Given the description of an element on the screen output the (x, y) to click on. 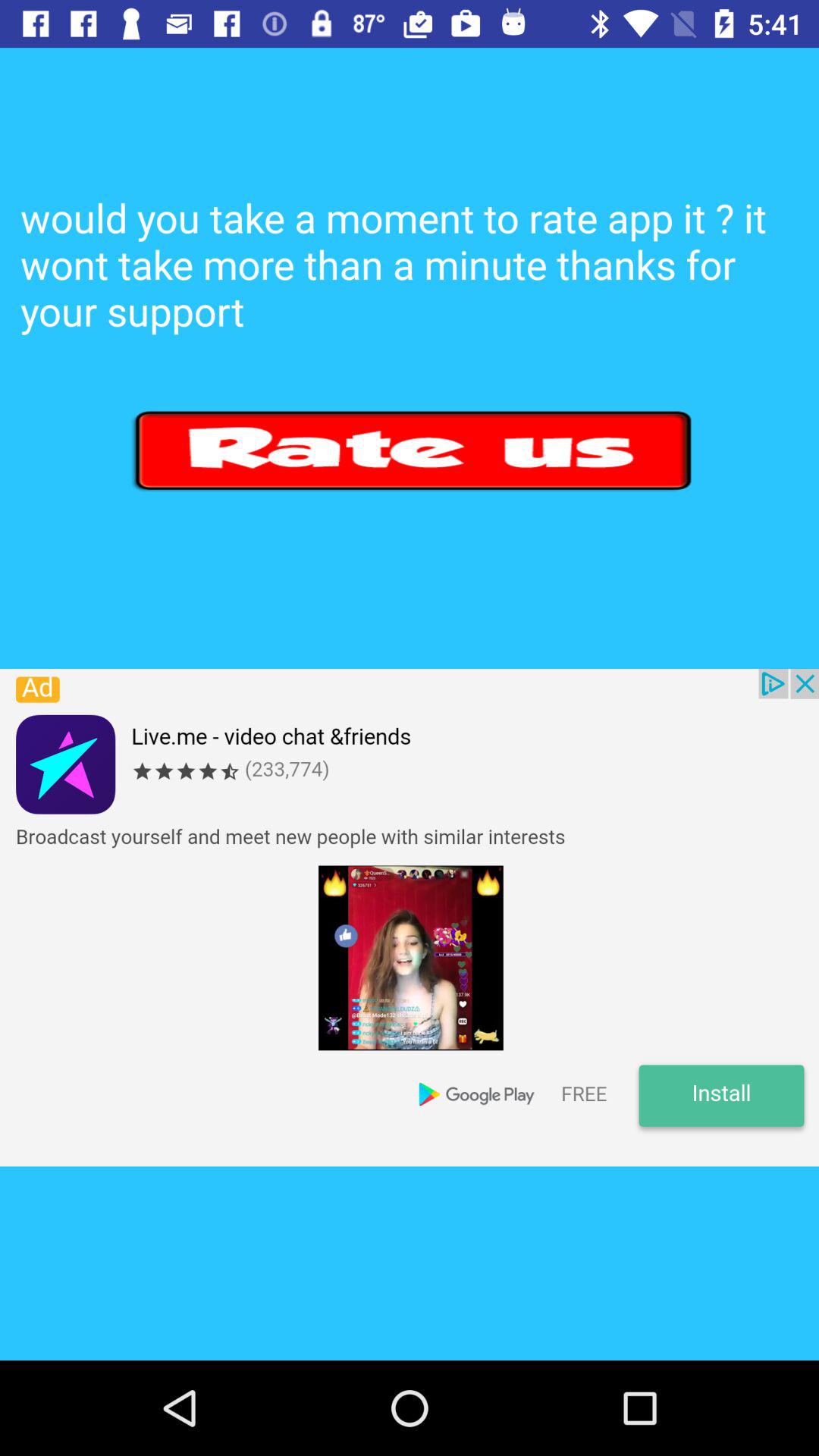
rate button (414, 450)
